Given the description of an element on the screen output the (x, y) to click on. 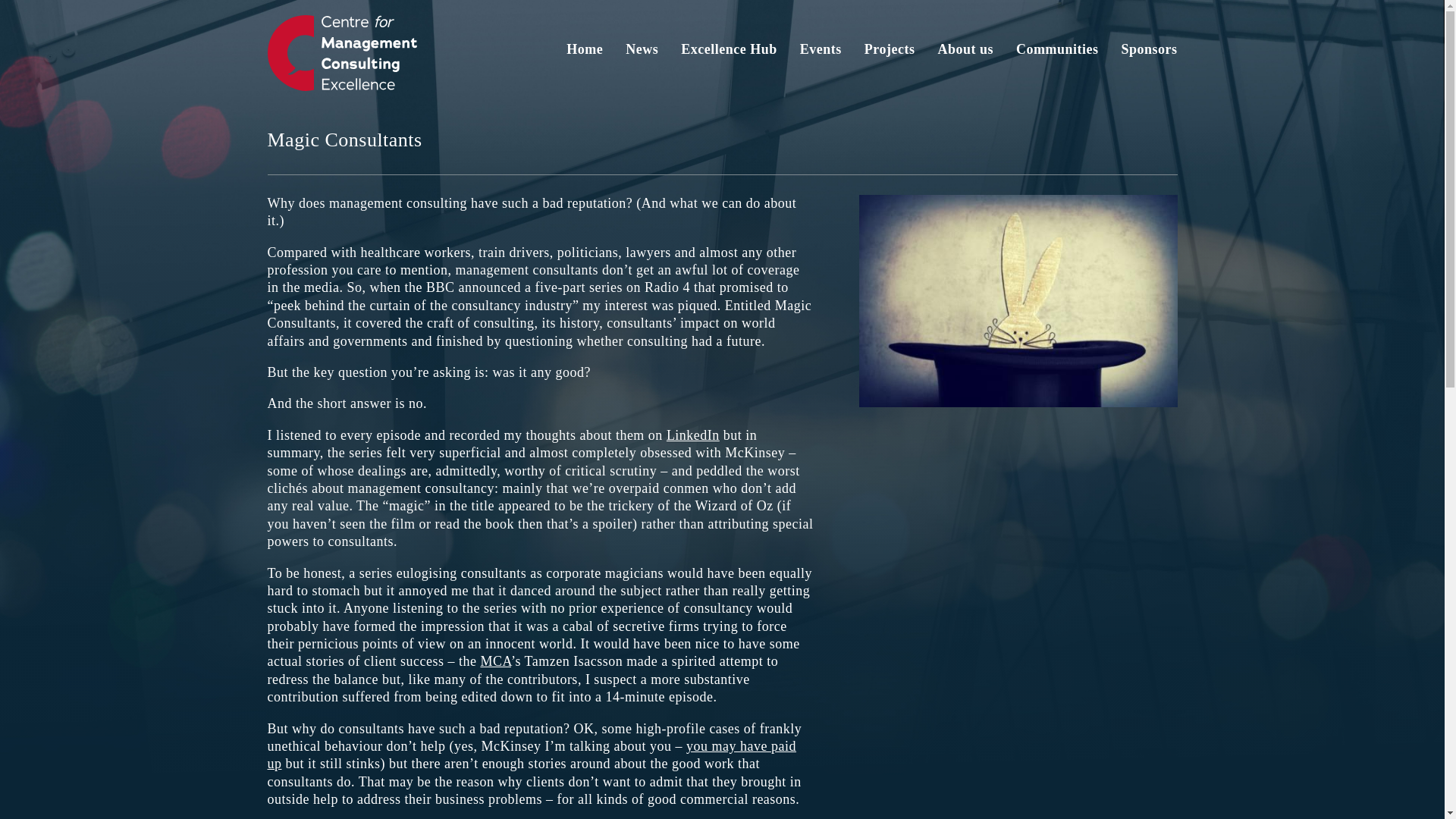
Sponsors (1148, 53)
Home (584, 53)
News (642, 53)
Events (820, 53)
Projects (889, 53)
About us (964, 53)
MCA (495, 661)
you may have paid up (531, 754)
Communities (1057, 53)
